Given the description of an element on the screen output the (x, y) to click on. 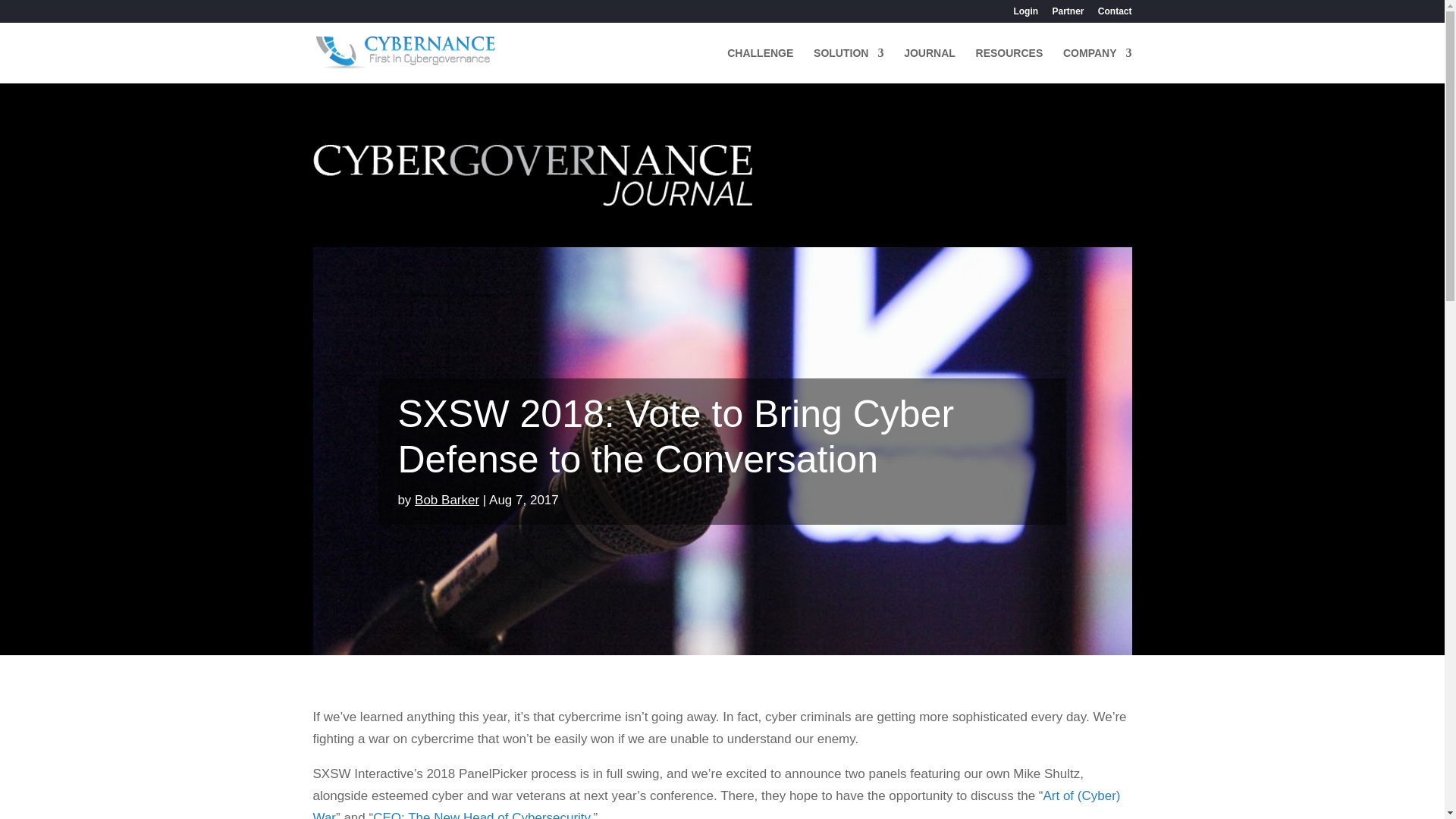
CEO: The New Head of Cybersecurity (480, 814)
Posts by Bob Barker (446, 499)
Partner (1067, 14)
Contact (1114, 14)
JOURNAL (929, 65)
Bob Barker (446, 499)
Login (1025, 14)
SOLUTION (848, 65)
CHALLENGE (759, 65)
COMPANY (1097, 65)
RESOURCES (1009, 65)
